Given the description of an element on the screen output the (x, y) to click on. 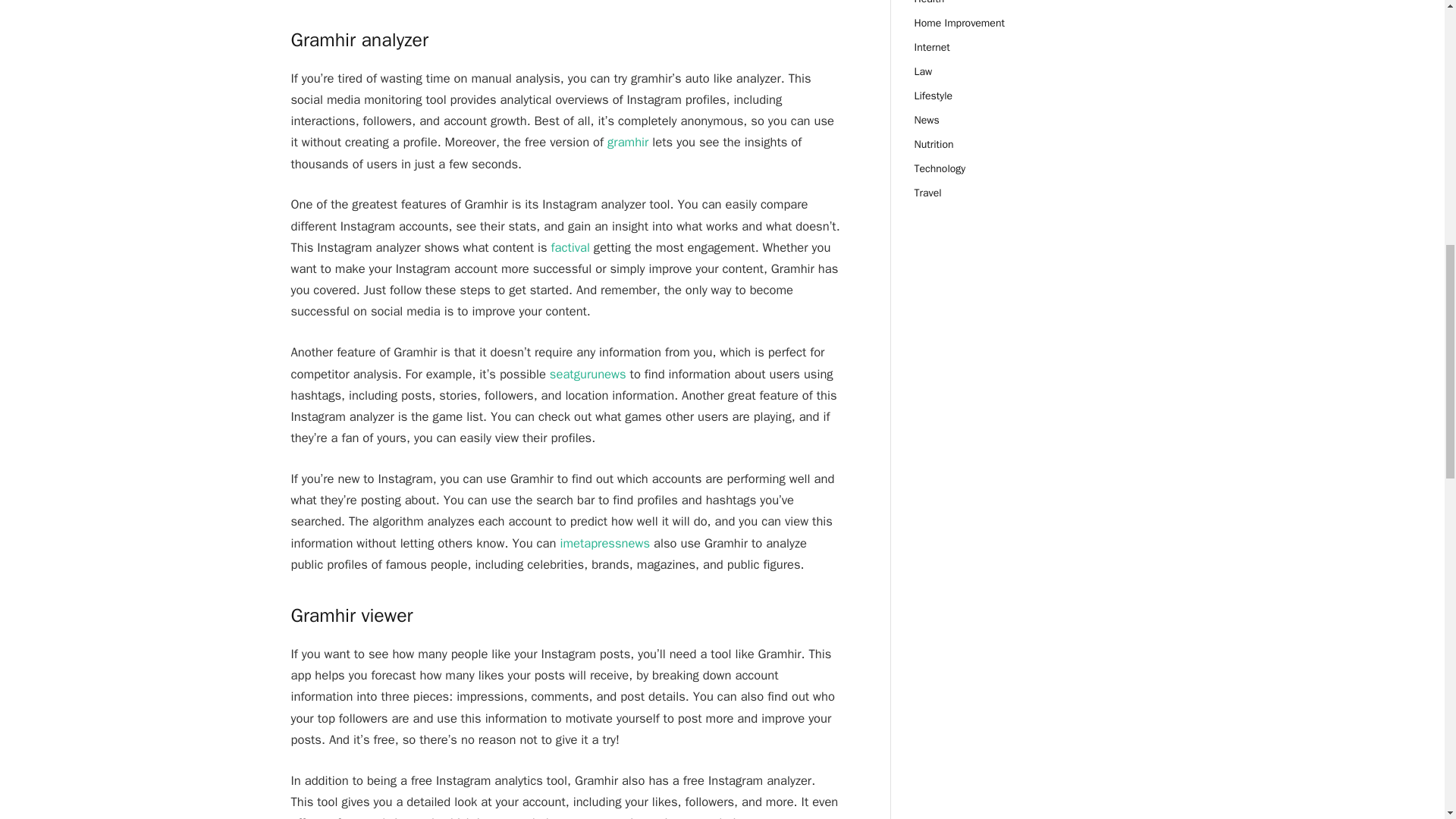
factival (570, 247)
imetapressnews (604, 543)
seatgurunews (588, 374)
gramhir (627, 141)
